Given the description of an element on the screen output the (x, y) to click on. 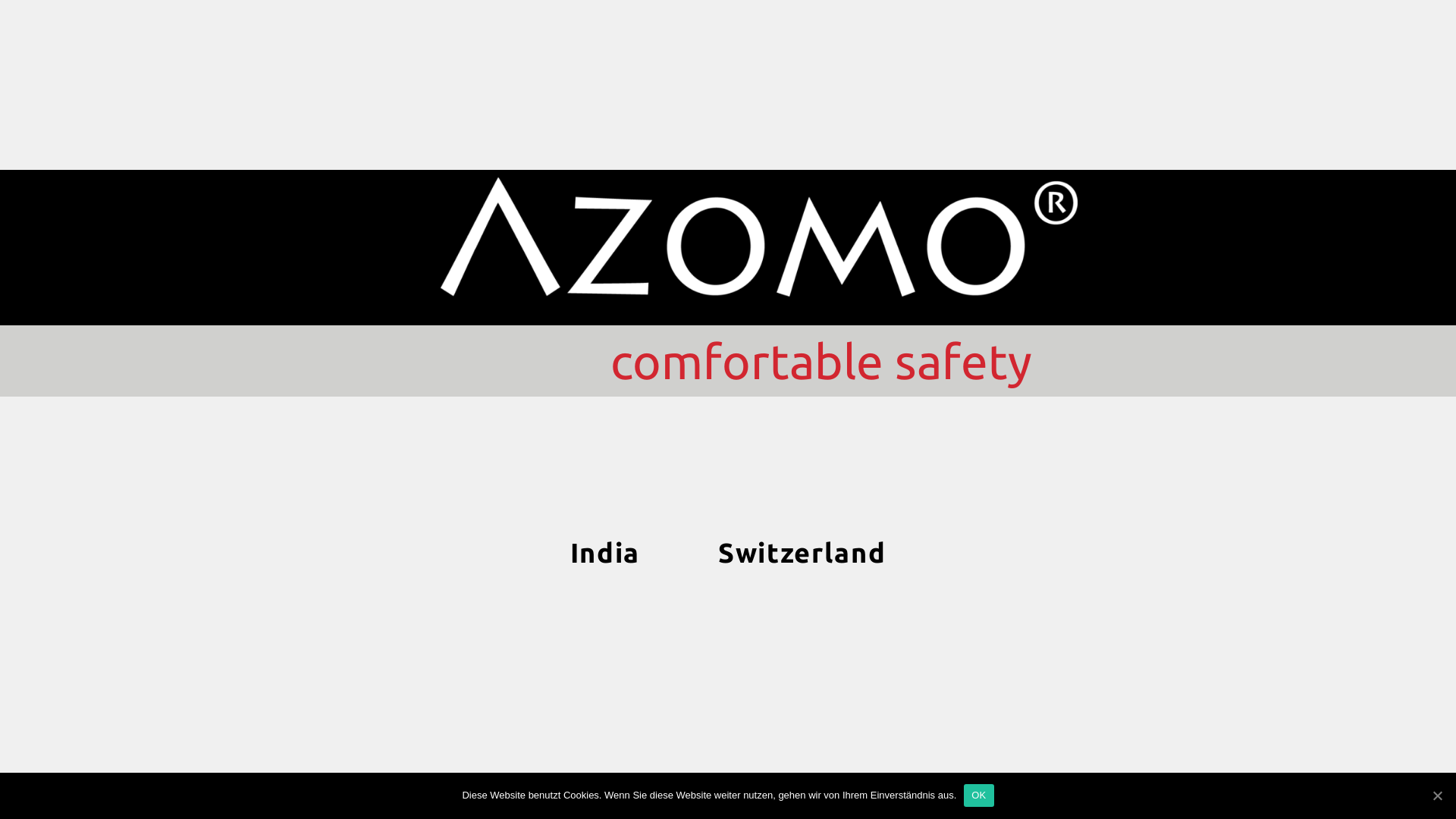
OK Element type: text (978, 795)
Switzerland Element type: text (801, 552)
India Element type: text (604, 552)
